Given the description of an element on the screen output the (x, y) to click on. 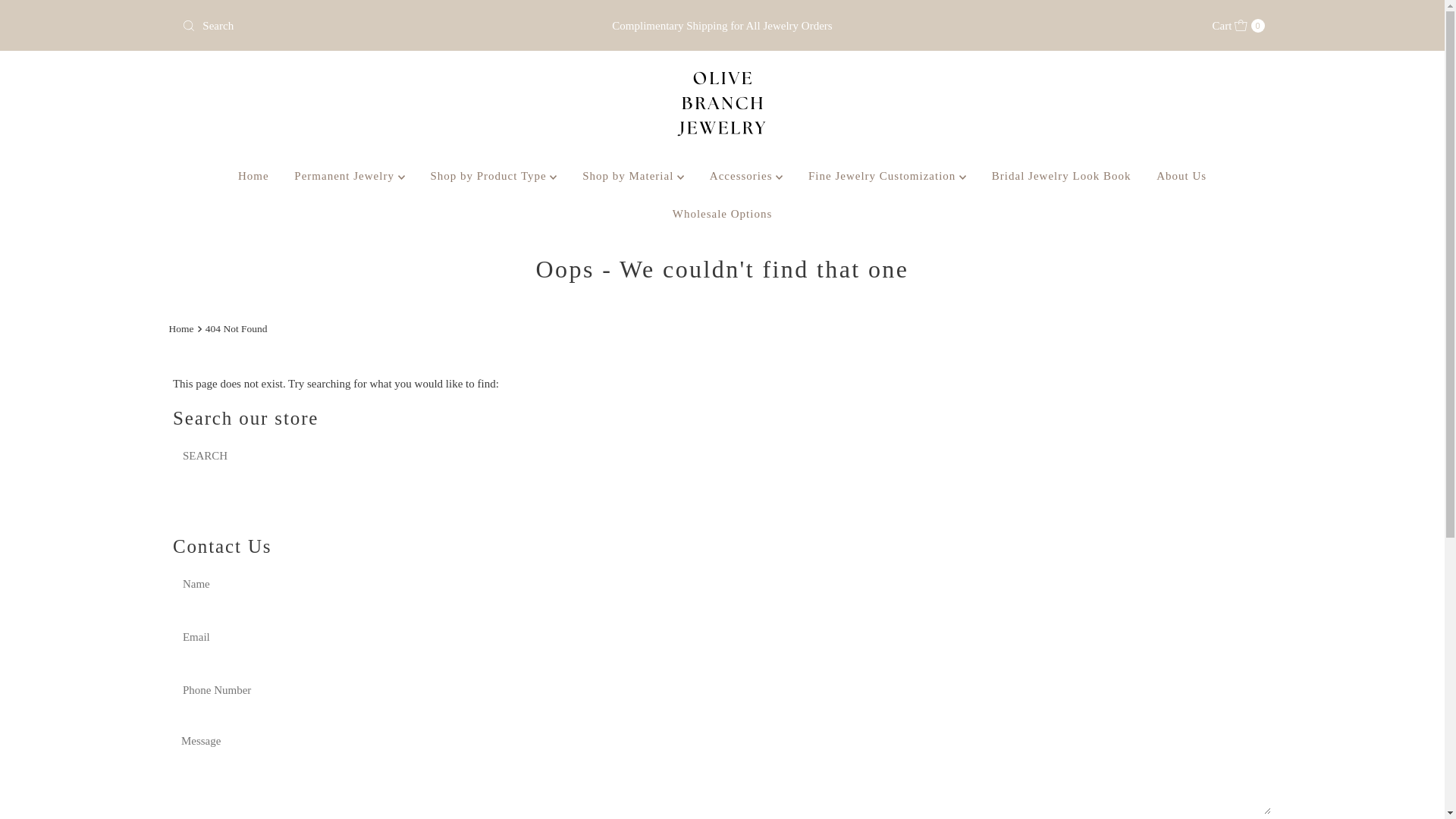
Home (254, 175)
Search our store (286, 455)
Back to the frontpage (182, 329)
Search our store (353, 25)
Skip to content (1238, 25)
